Given the description of an element on the screen output the (x, y) to click on. 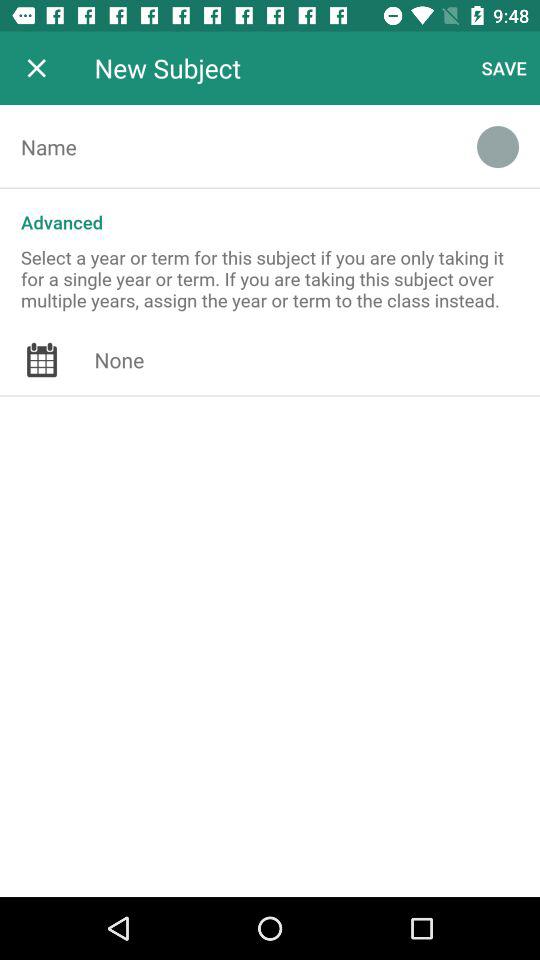
click app to the left of the new subject item (36, 68)
